Given the description of an element on the screen output the (x, y) to click on. 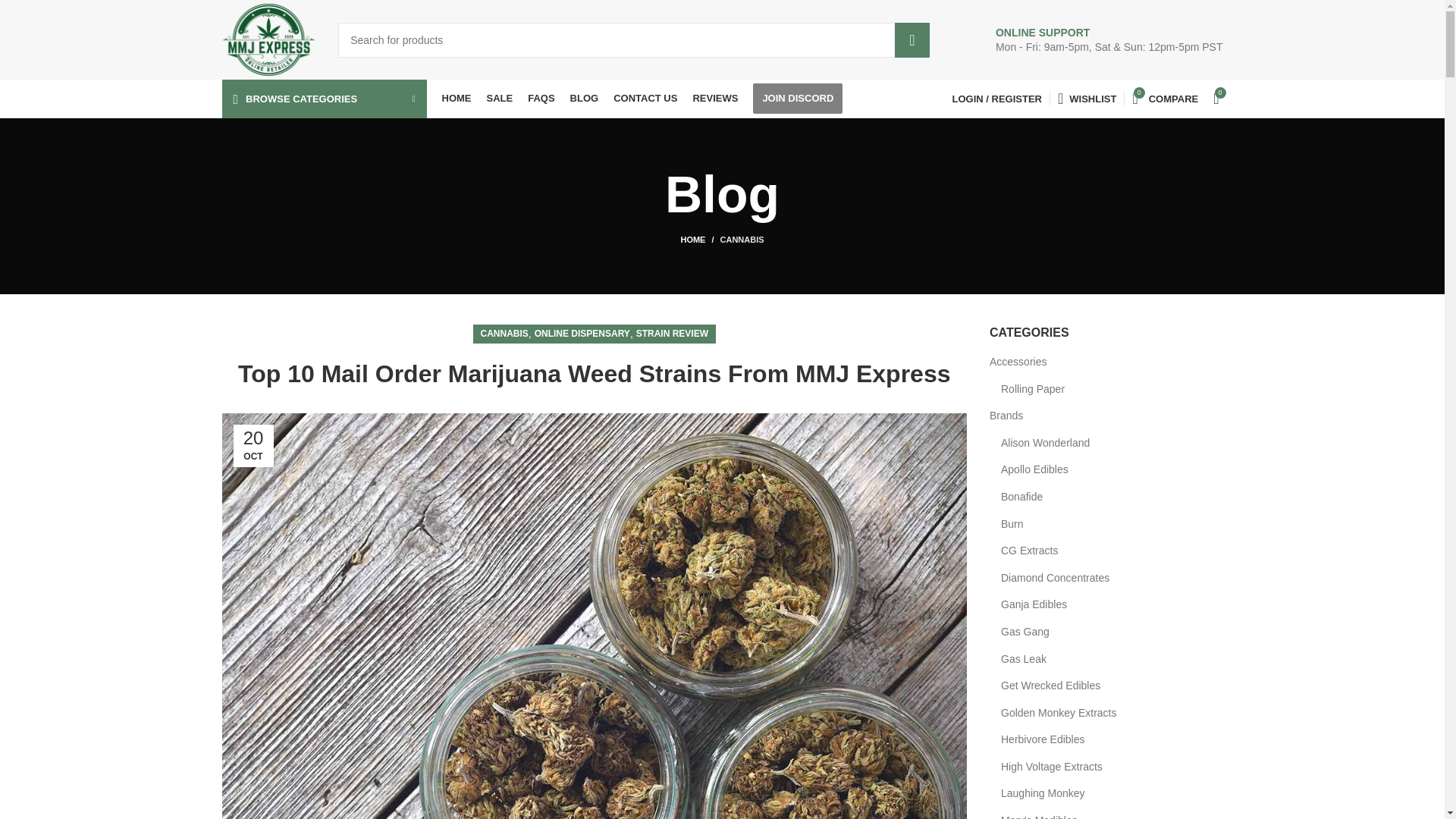
My account (996, 98)
Compare products (1164, 98)
My Wishlist (1086, 98)
Search for products (633, 39)
